Given the description of an element on the screen output the (x, y) to click on. 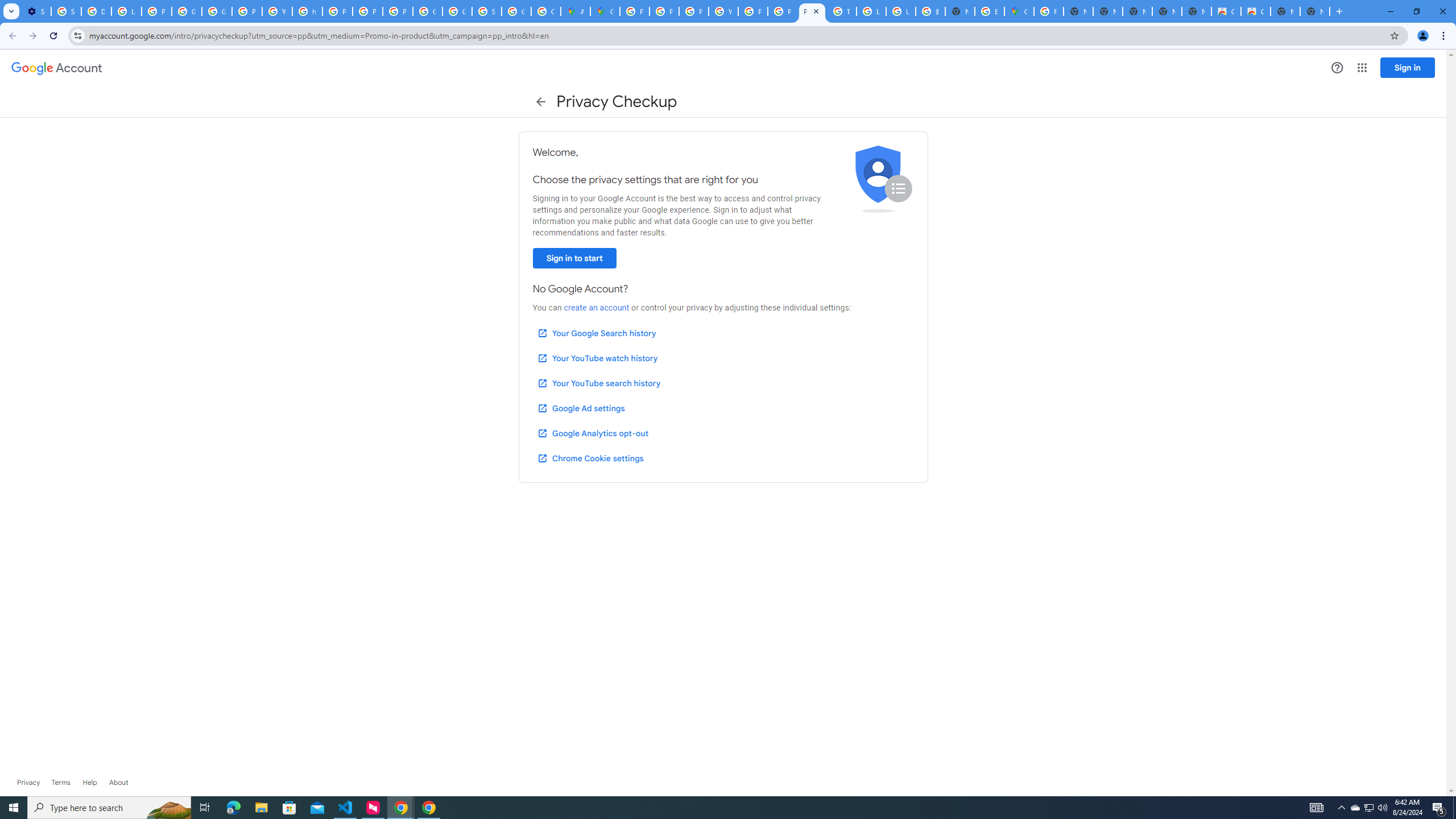
Your YouTube search history (598, 383)
YouTube (723, 11)
Sign in - Google Accounts (65, 11)
Google Maps (604, 11)
Your Google Search history (596, 332)
Classic Blue - Chrome Web Store (1226, 11)
